Given the description of an element on the screen output the (x, y) to click on. 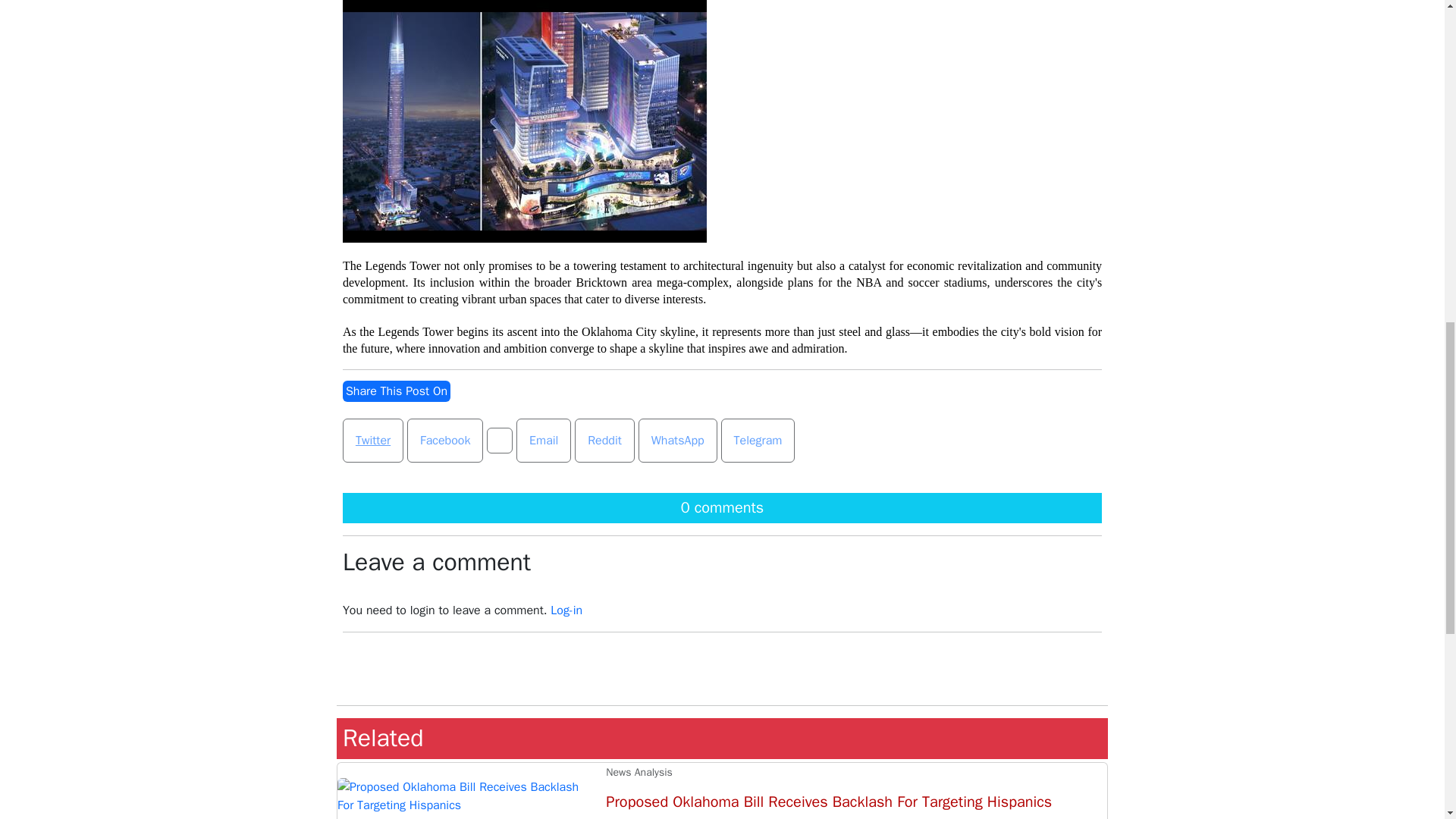
Log-in (566, 610)
Twitter (372, 440)
Facebook (445, 440)
Email (543, 440)
Telegram (757, 440)
WhatsApp (678, 440)
Telegram (758, 440)
Reddit (604, 440)
Facebook (445, 440)
Email (543, 440)
